Given the description of an element on the screen output the (x, y) to click on. 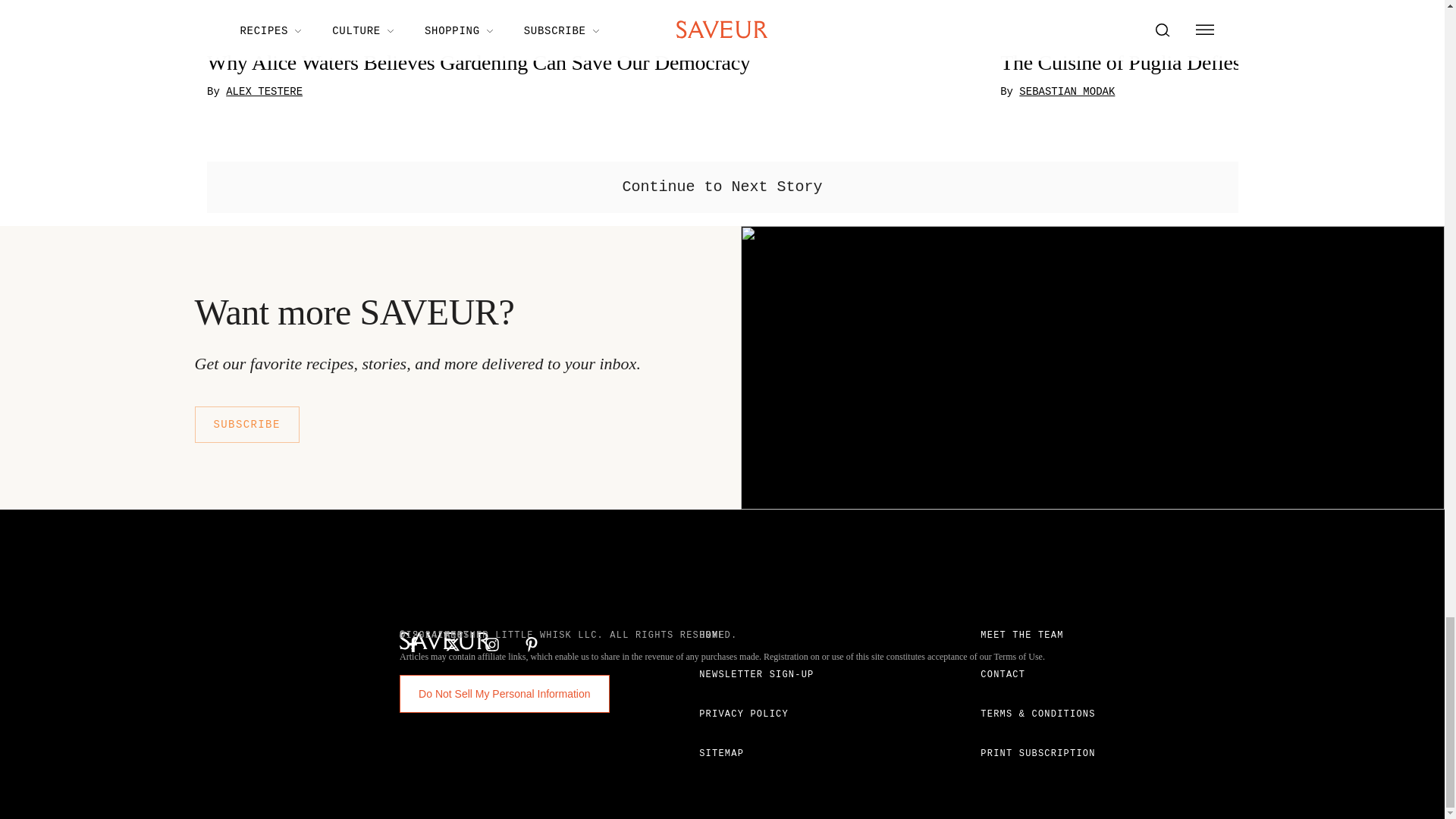
SEBASTIAN MODAK (1067, 92)
ALEX TESTERE (263, 92)
Why Alice Waters Believes Gardening Can Save Our Democracy (595, 63)
